Given the description of an element on the screen output the (x, y) to click on. 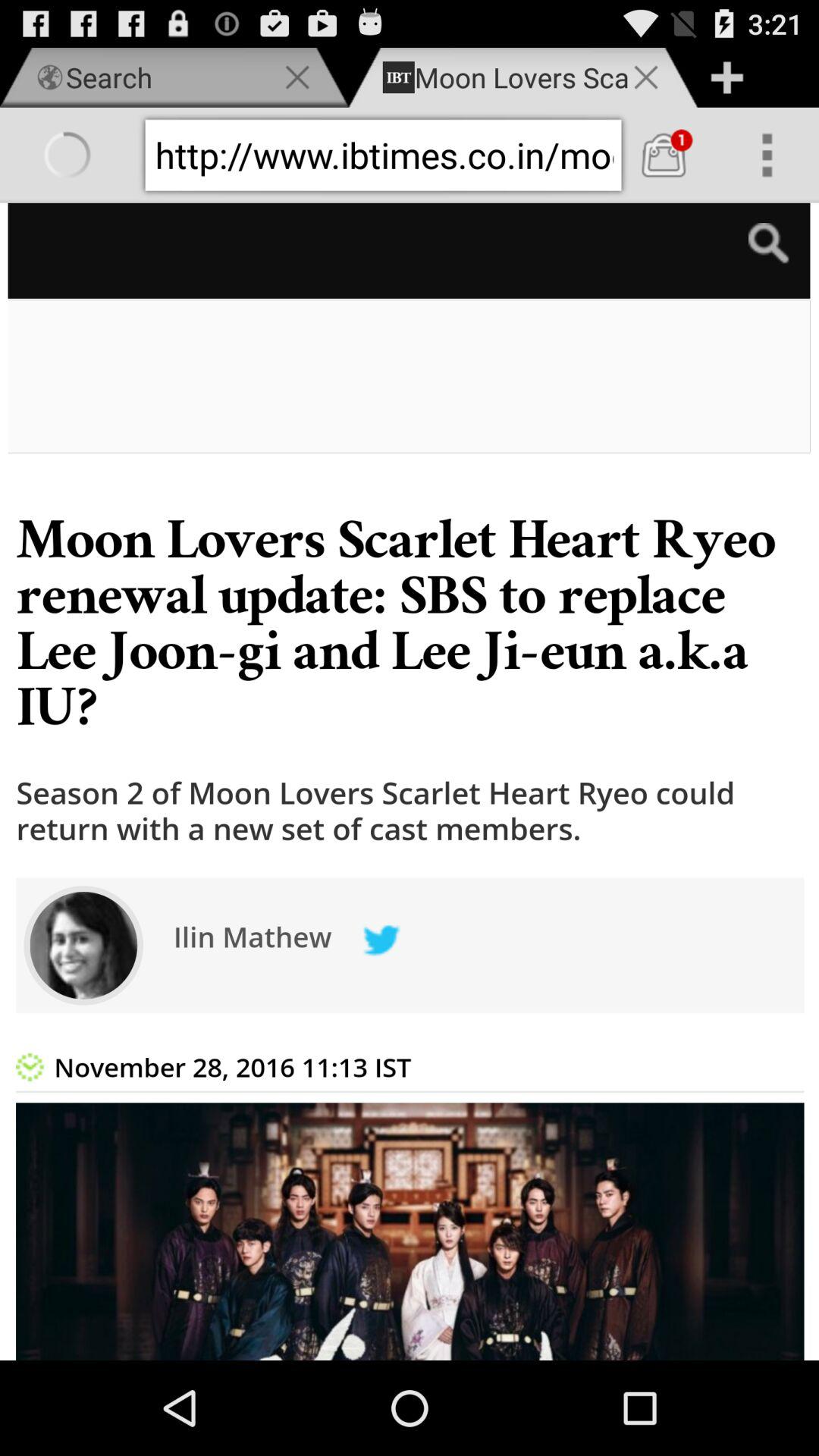
today notice (409, 781)
